Given the description of an element on the screen output the (x, y) to click on. 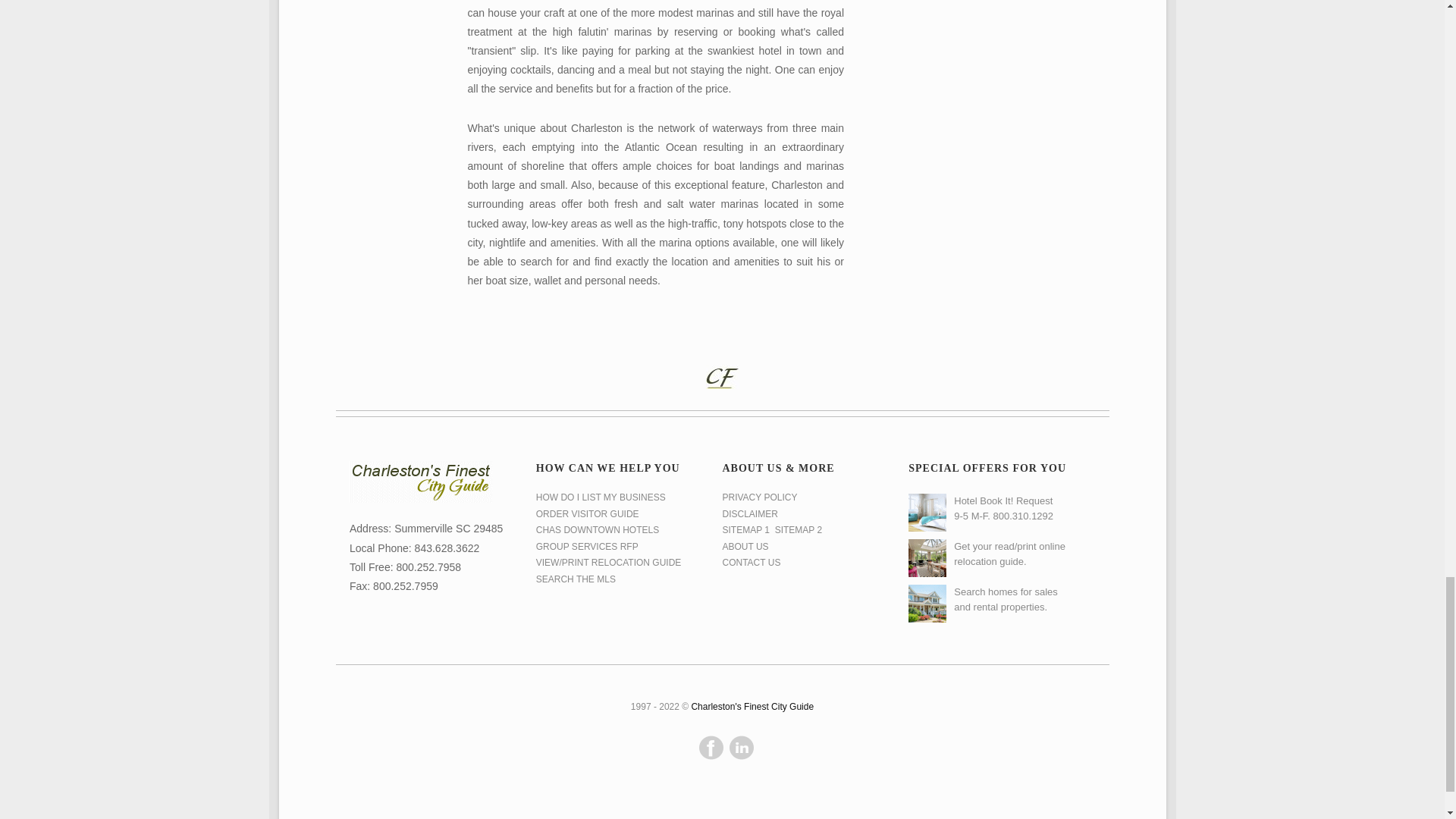
Facebook (710, 747)
Charleston's Finest City Guide Logo (420, 481)
